Given the description of an element on the screen output the (x, y) to click on. 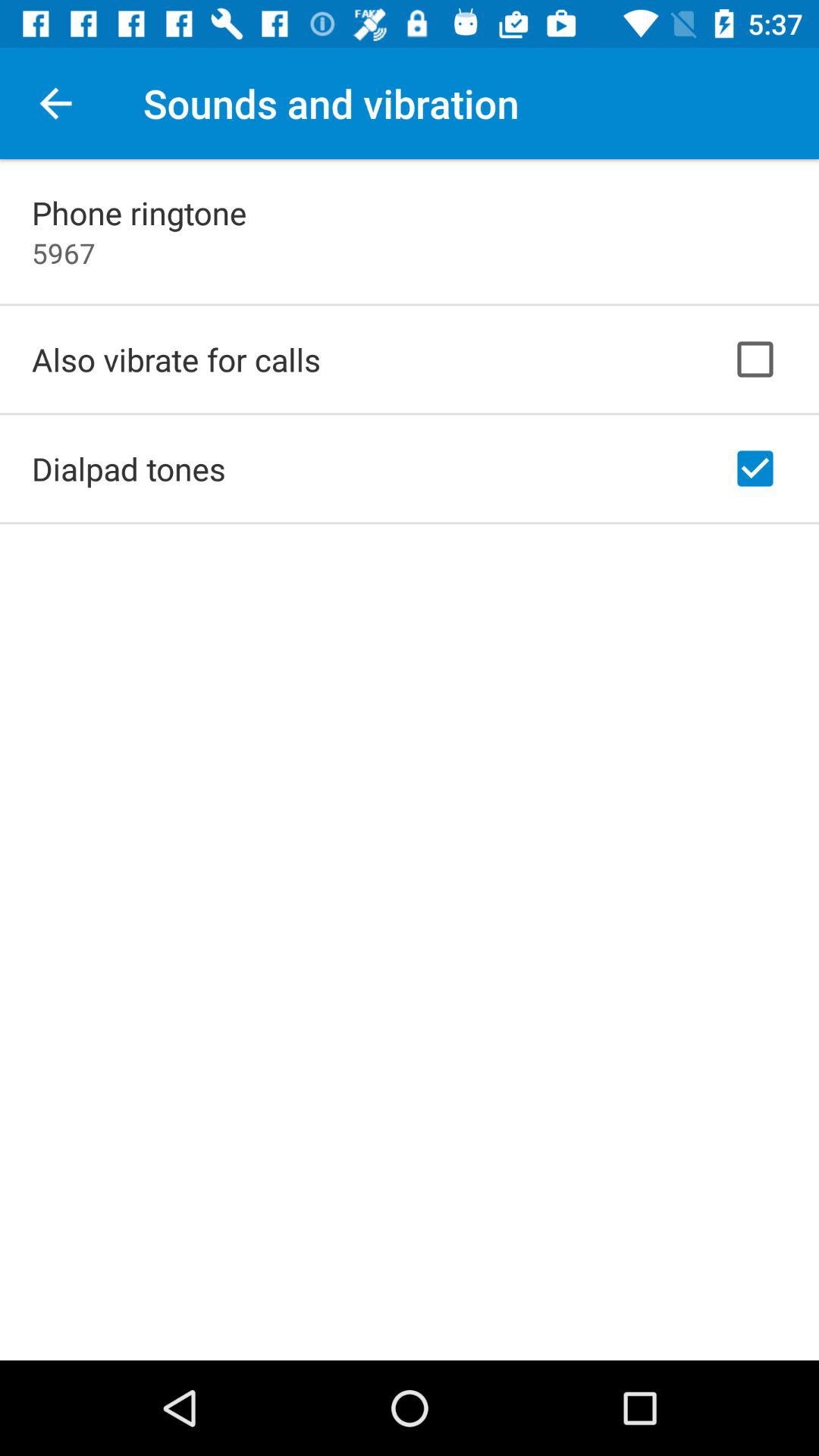
open the 5967 item (63, 252)
